Given the description of an element on the screen output the (x, y) to click on. 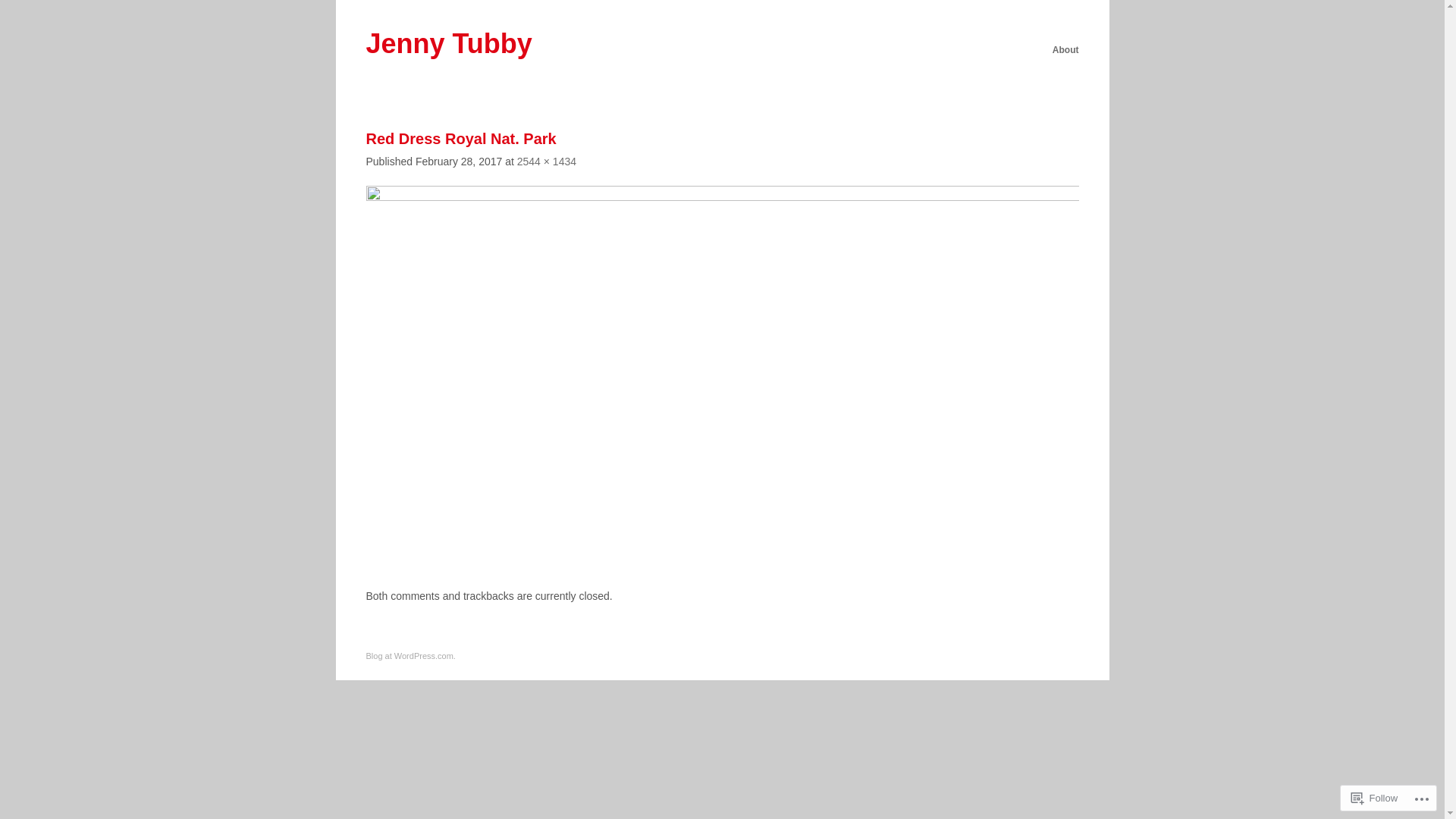
Jenny Tubby Element type: text (448, 43)
Skip to content Element type: text (680, 52)
Follow Element type: text (1374, 797)
About Element type: text (1065, 49)
Blog at WordPress.com. Element type: text (410, 655)
